Given the description of an element on the screen output the (x, y) to click on. 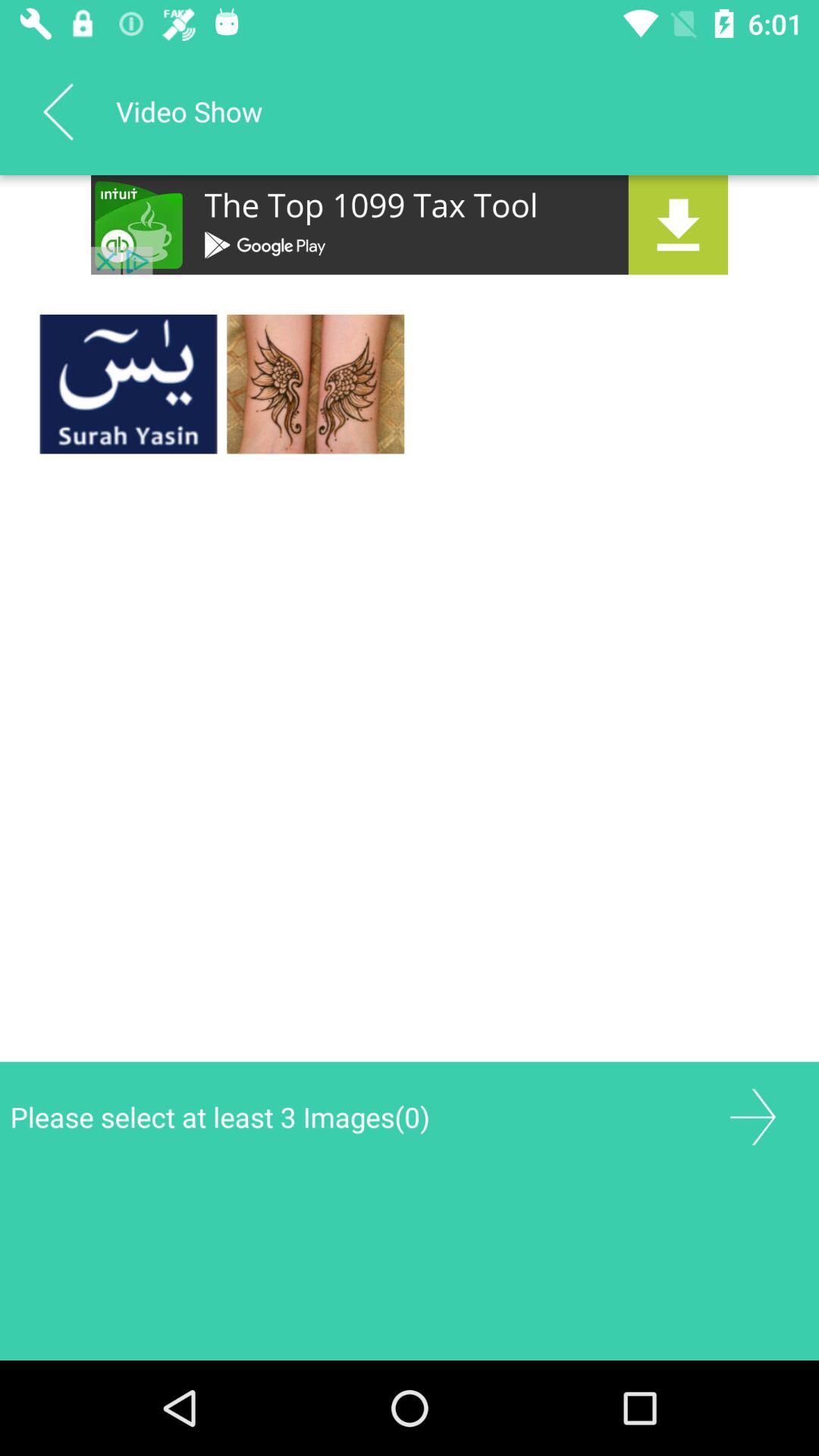
go to gallery (752, 1116)
